Given the description of an element on the screen output the (x, y) to click on. 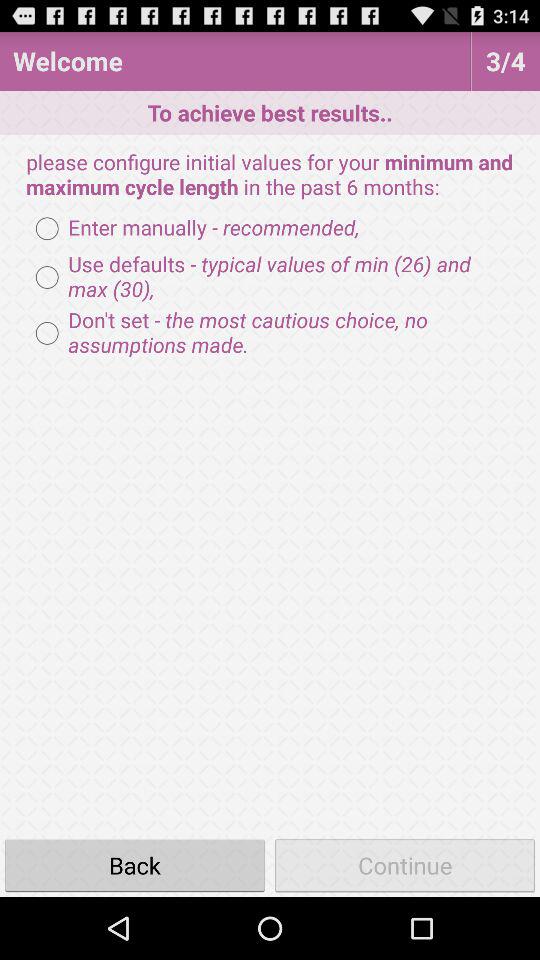
select enter manually - recommended, icon (192, 228)
